Given the description of an element on the screen output the (x, y) to click on. 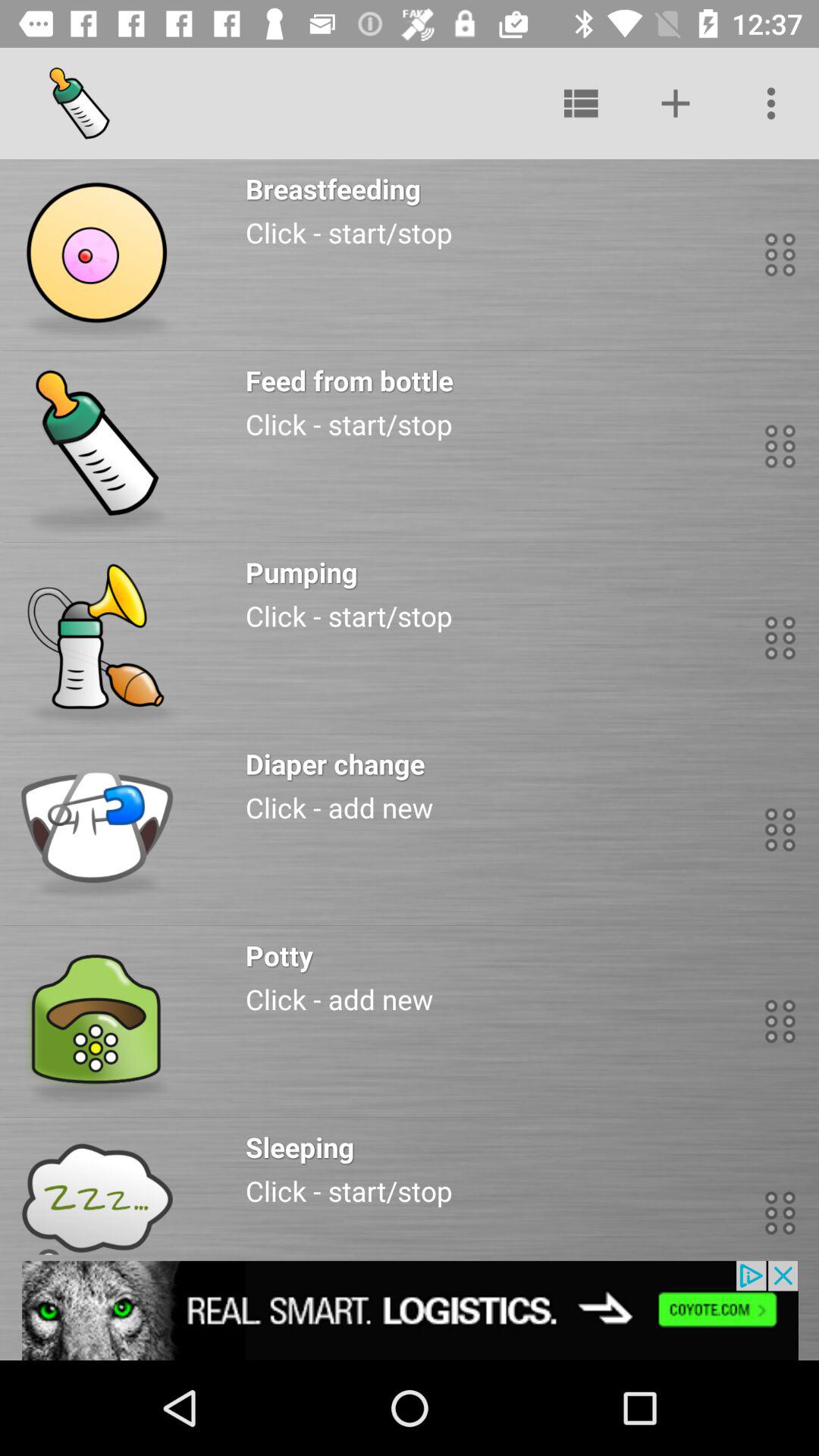
advertisement click (409, 1310)
